Given the description of an element on the screen output the (x, y) to click on. 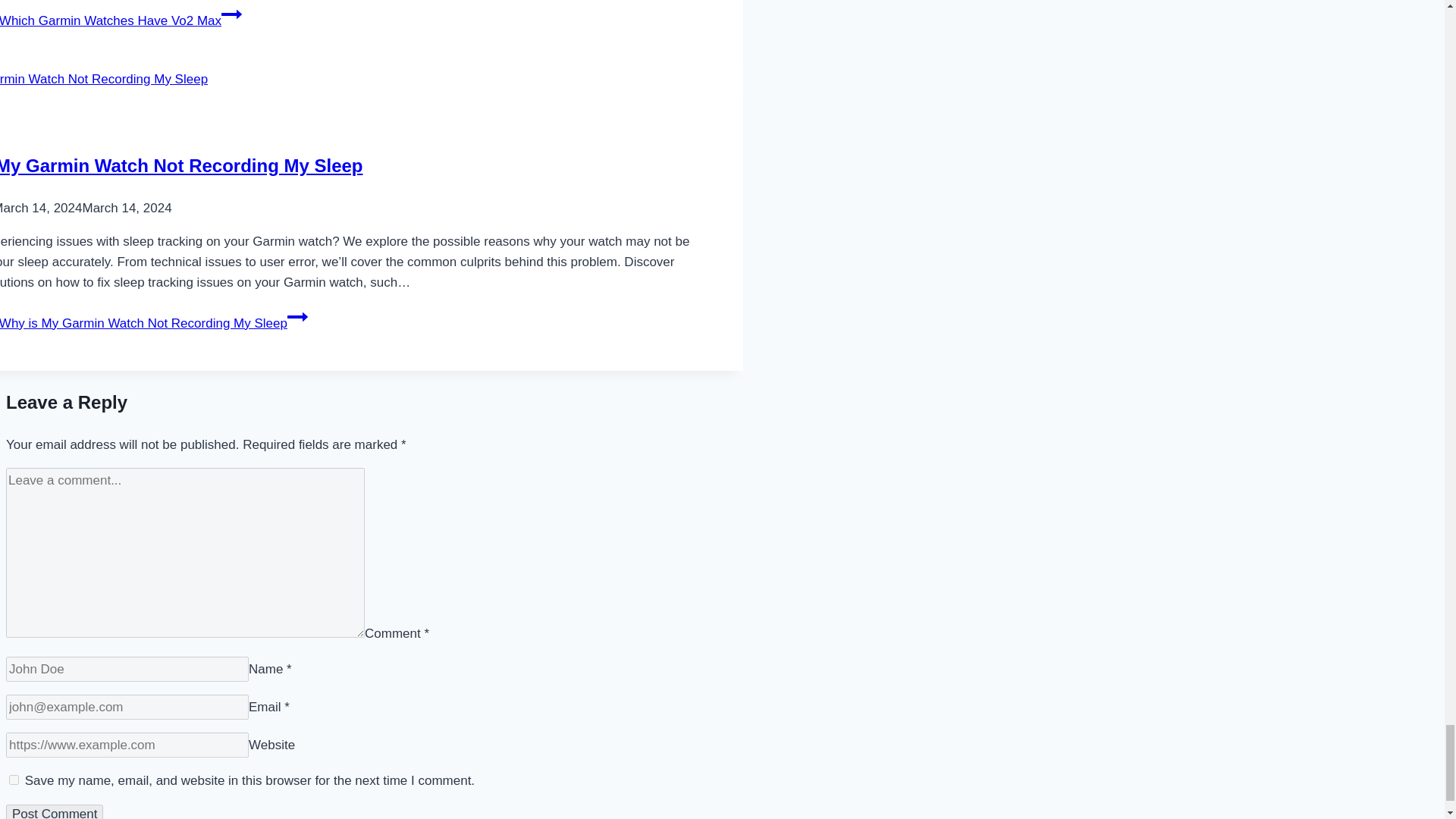
Read More Which Garmin Watches Have Vo2 MaxContinue (120, 20)
Continue (296, 316)
yes (13, 779)
Continue (231, 14)
